Given the description of an element on the screen output the (x, y) to click on. 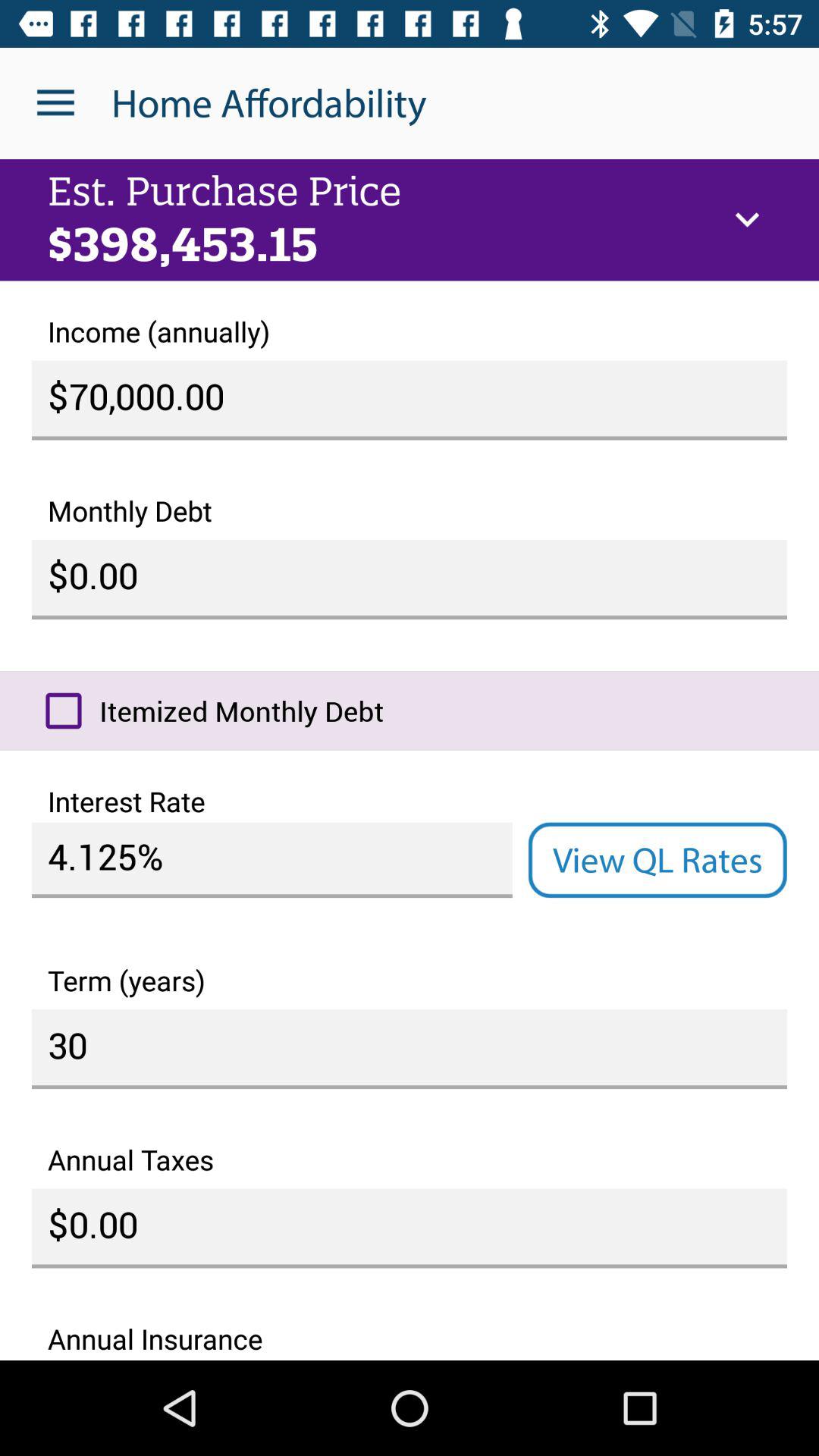
flip until the 4.125% (271, 860)
